Given the description of an element on the screen output the (x, y) to click on. 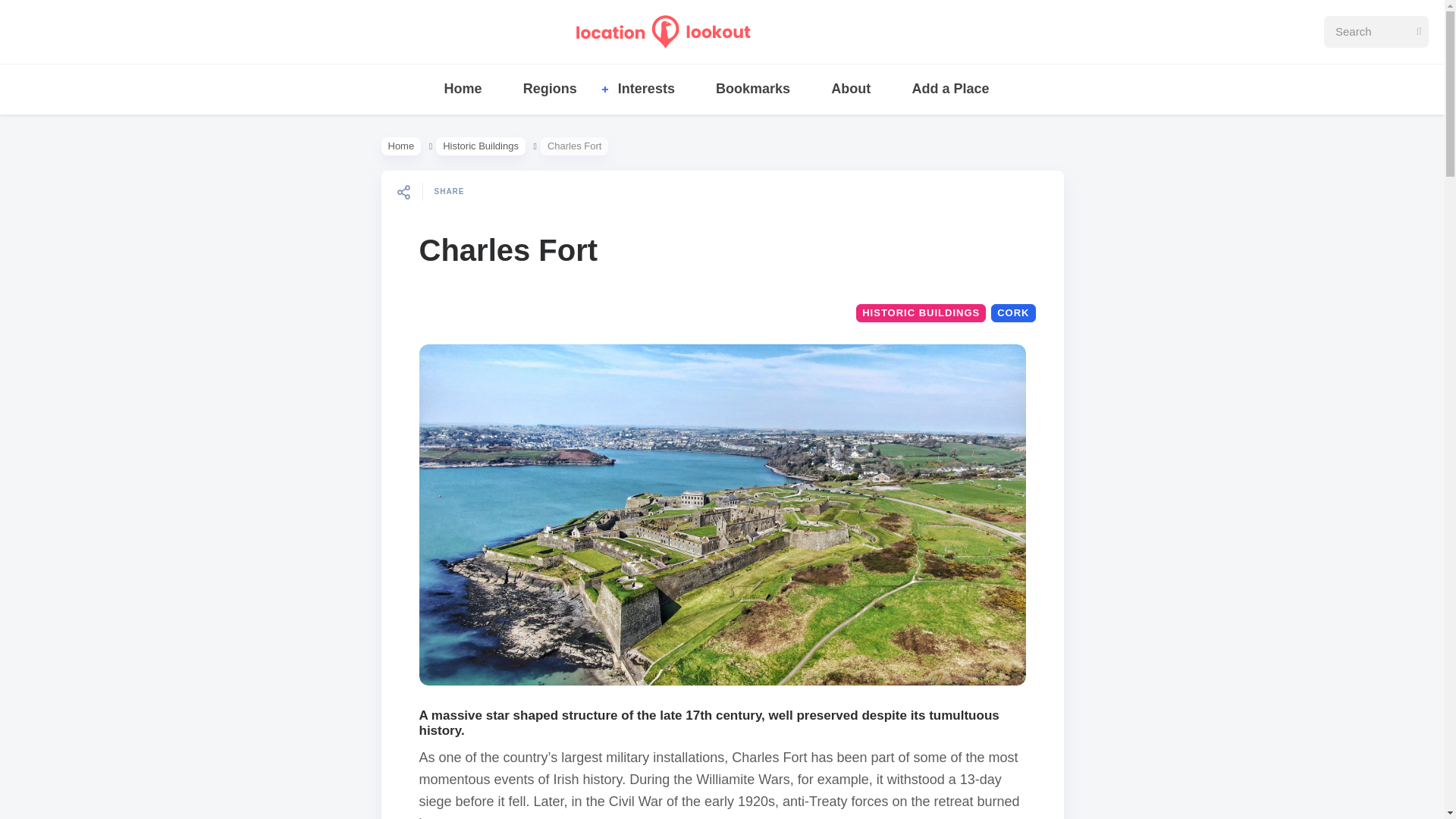
Search (24, 10)
View all posts in Historic Buildings (480, 146)
Regions (549, 89)
Interests (646, 89)
Home (461, 89)
Search for: (1376, 31)
